Given the description of an element on the screen output the (x, y) to click on. 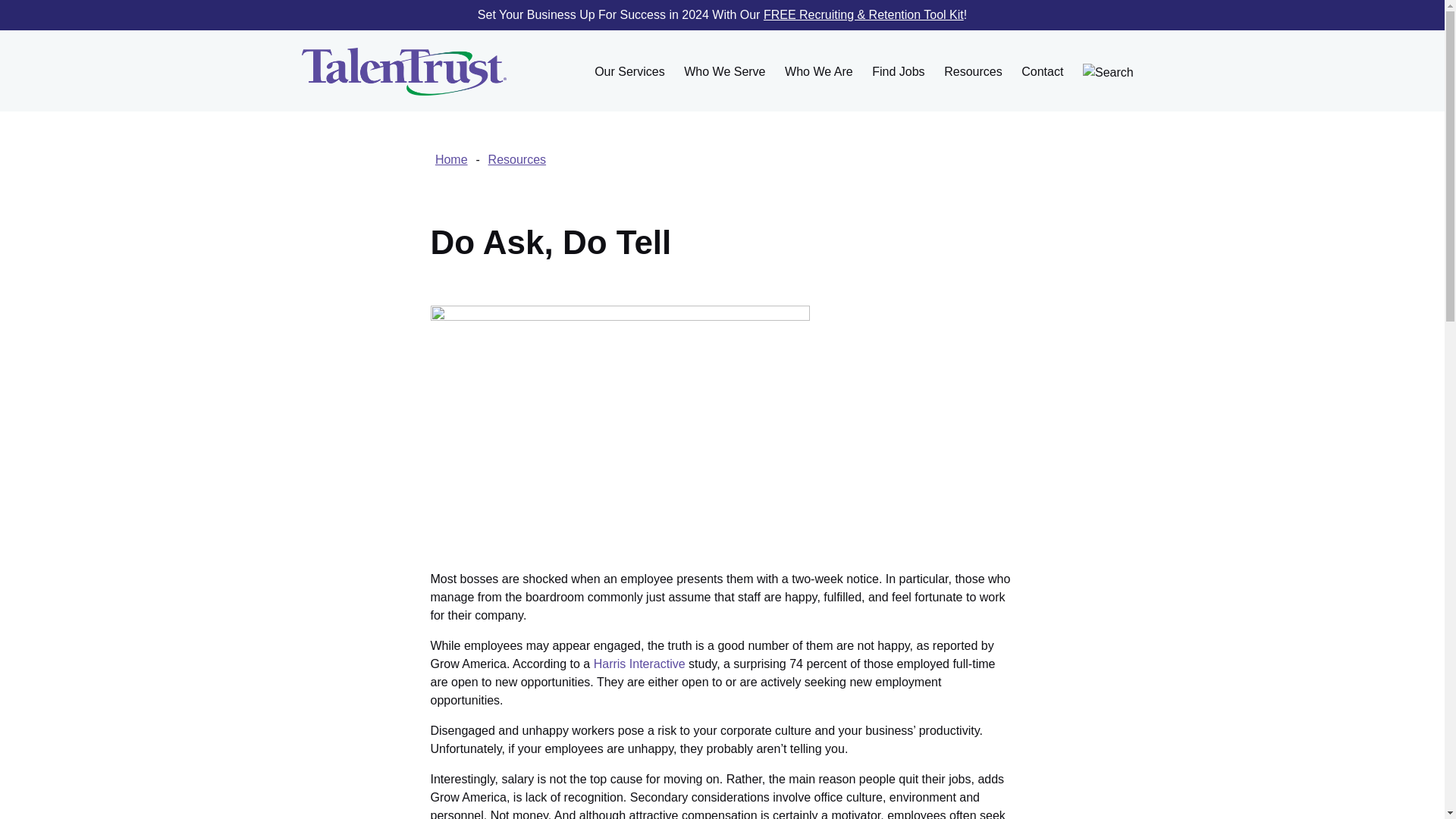
Who We Are (817, 70)
Talentrust (403, 71)
Our Services (629, 70)
Find Jobs (897, 70)
Resources (972, 70)
Who We Serve (724, 70)
